Given the description of an element on the screen output the (x, y) to click on. 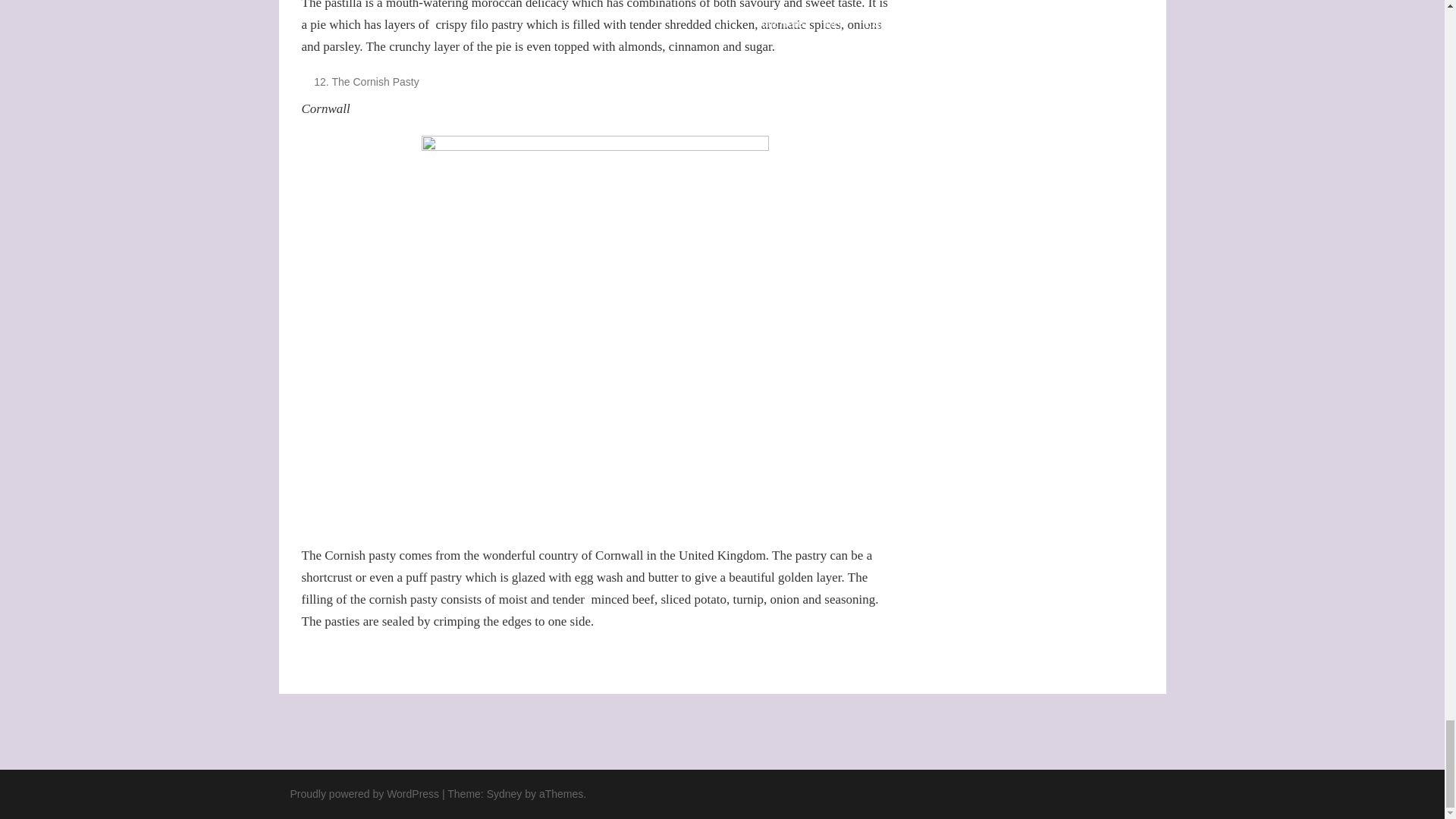
Proudly powered by WordPress (364, 793)
